Given the description of an element on the screen output the (x, y) to click on. 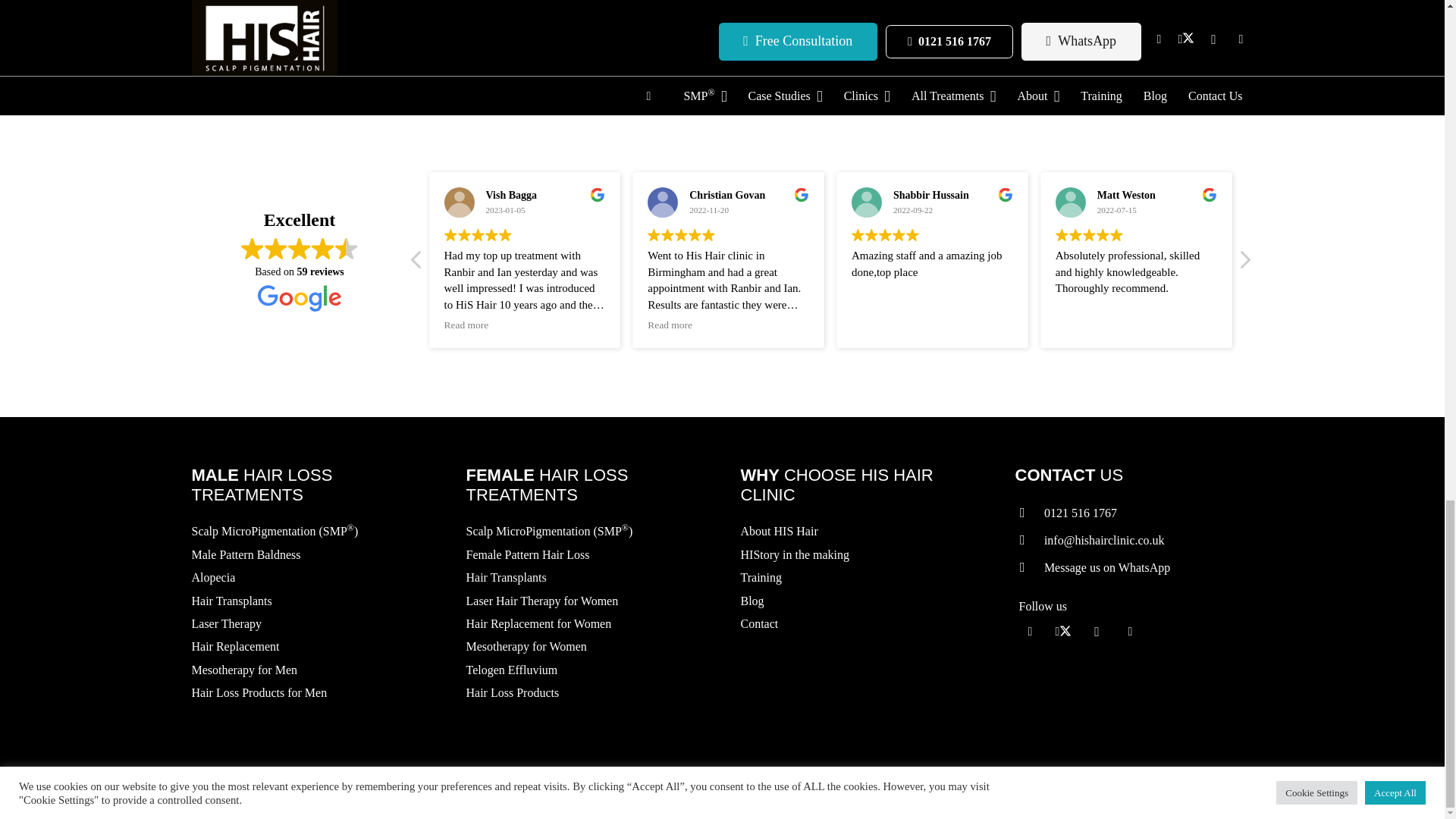
Share this (245, 2)
Share this (392, 2)
Why the recession has left us receding (364, 49)
Natural treatments to prevent hair loss in children (712, 49)
Email this (208, 2)
Pin this (355, 2)
Share this (319, 2)
Tweet this (281, 2)
